Given the description of an element on the screen output the (x, y) to click on. 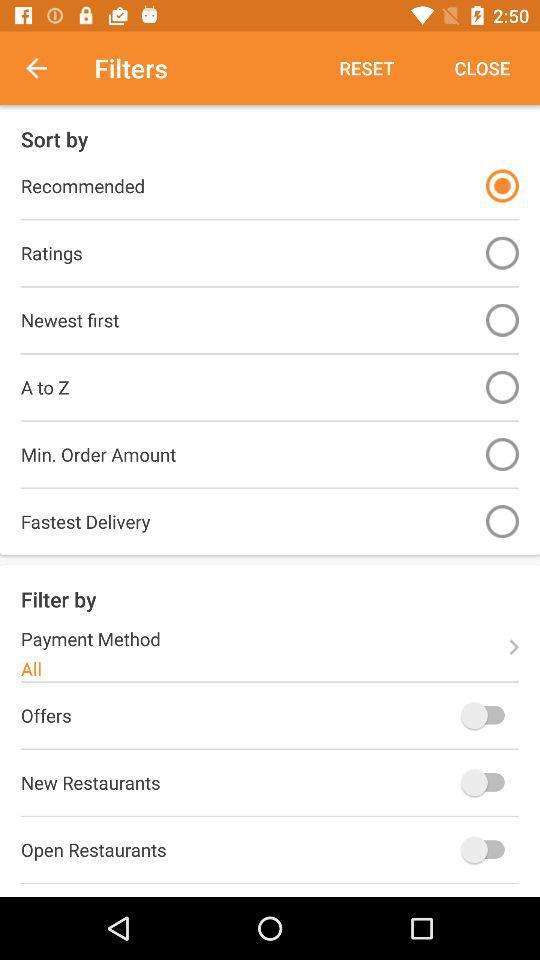
tap icon to the right of the fastest delivery icon (502, 521)
